Given the description of an element on the screen output the (x, y) to click on. 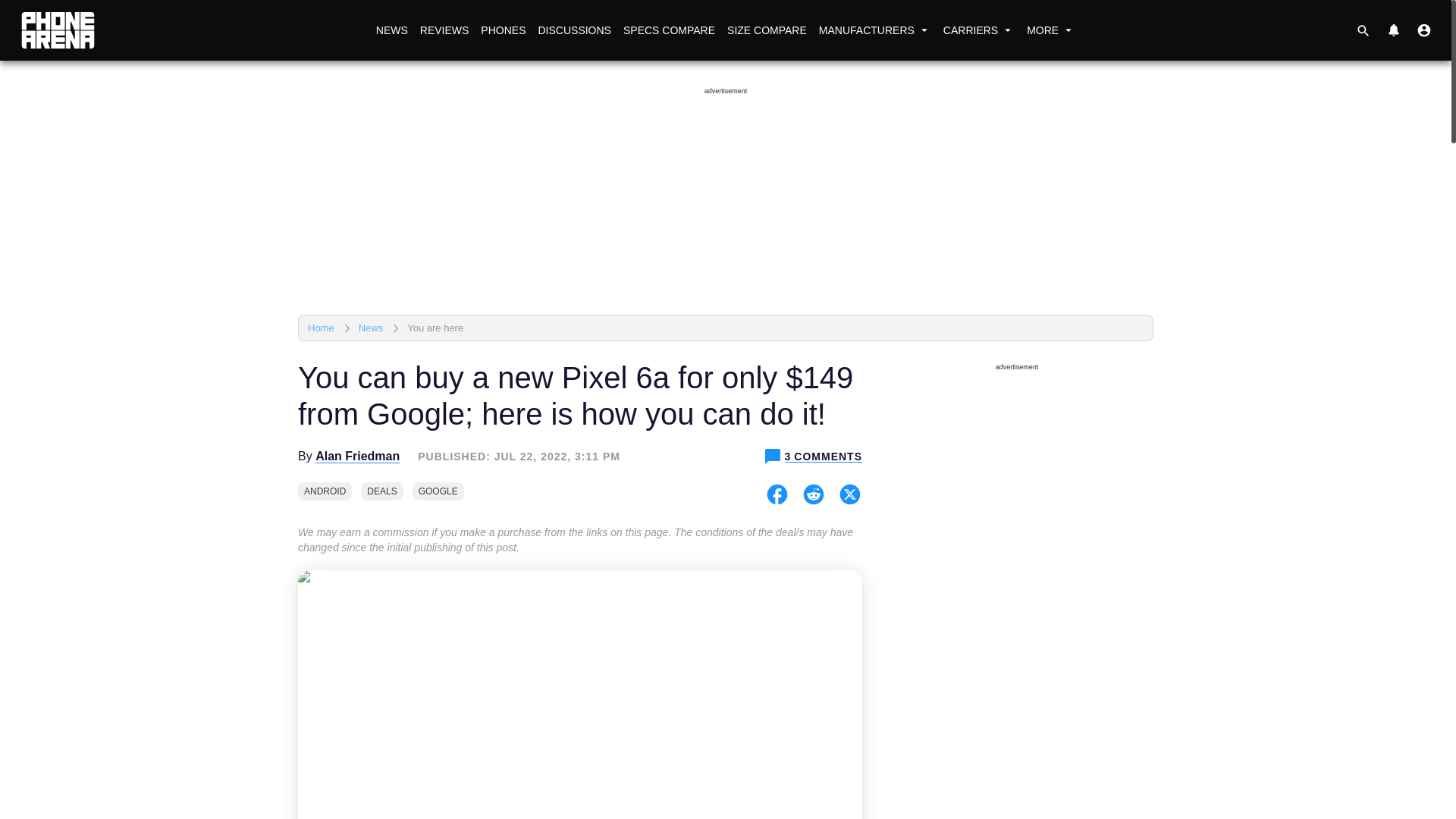
MANUFACTURERS (874, 30)
DISCUSSIONS (573, 30)
REVIEWS (444, 30)
PHONES (502, 30)
NEWS (391, 30)
SPECS COMPARE (668, 30)
MORE (1050, 30)
SIZE COMPARE (766, 30)
CARRIERS (978, 30)
